Given the description of an element on the screen output the (x, y) to click on. 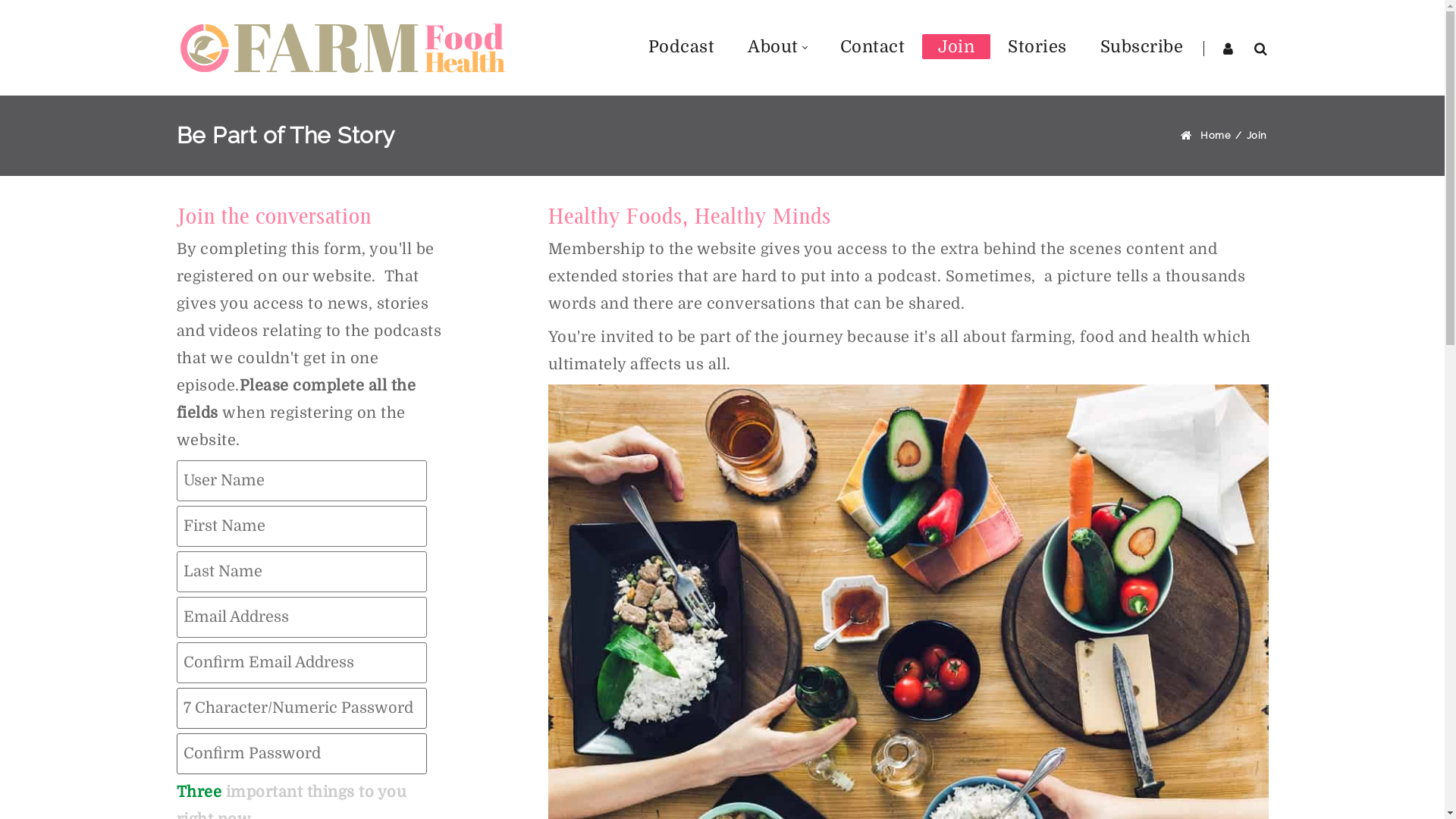
Join Element type: text (956, 46)
Podcast Element type: text (681, 46)
Join Element type: text (1256, 135)
Home Element type: text (1215, 135)
About Element type: text (776, 46)
Subscribe Element type: text (1141, 46)
Stories Element type: text (1036, 46)
Farm Food Health  Element type: hover (342, 47)
Contact Element type: text (871, 46)
